Given the description of an element on the screen output the (x, y) to click on. 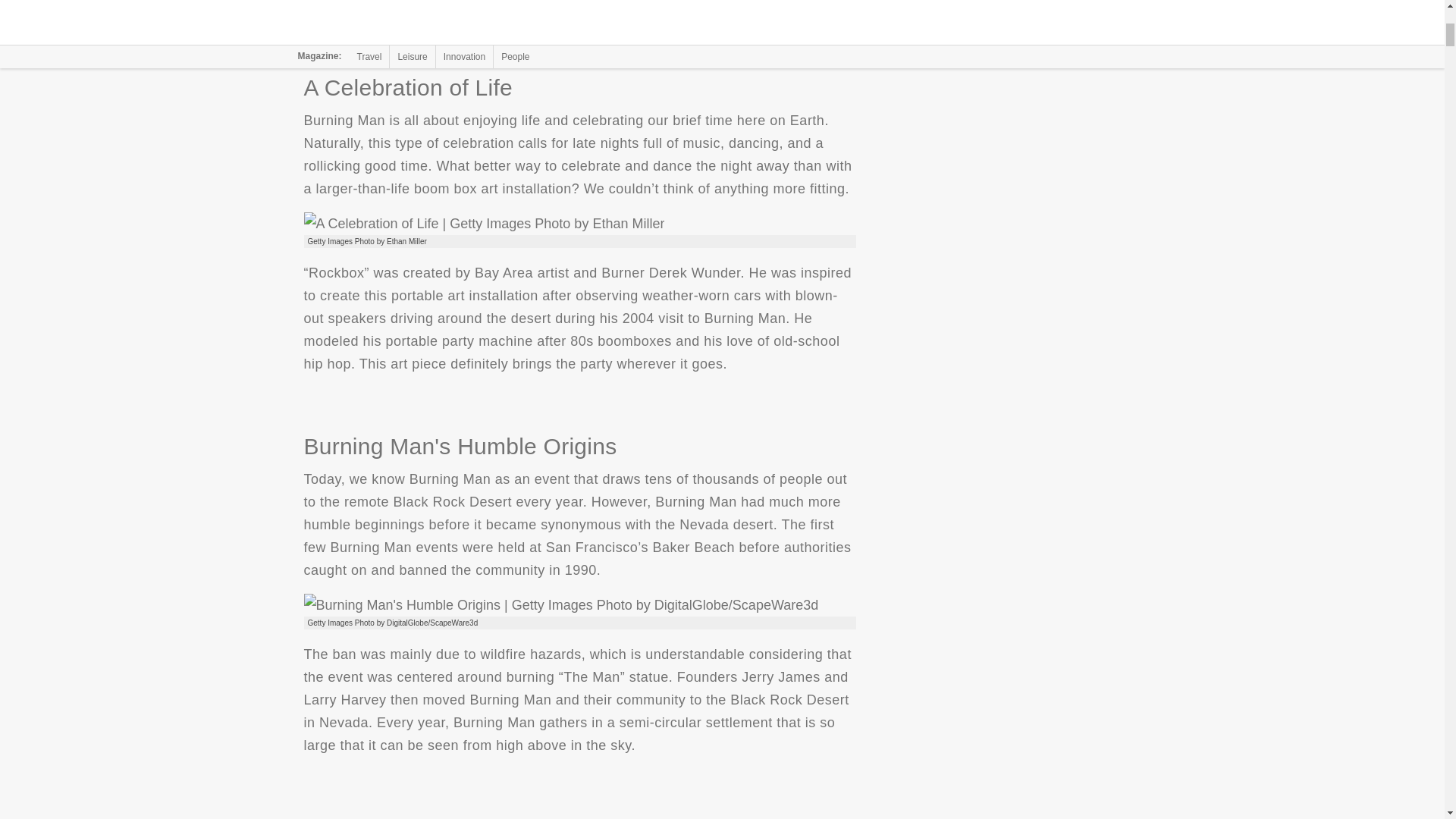
A Celebration of Life (482, 223)
Burning Man's Humble Origins (560, 604)
